Given the description of an element on the screen output the (x, y) to click on. 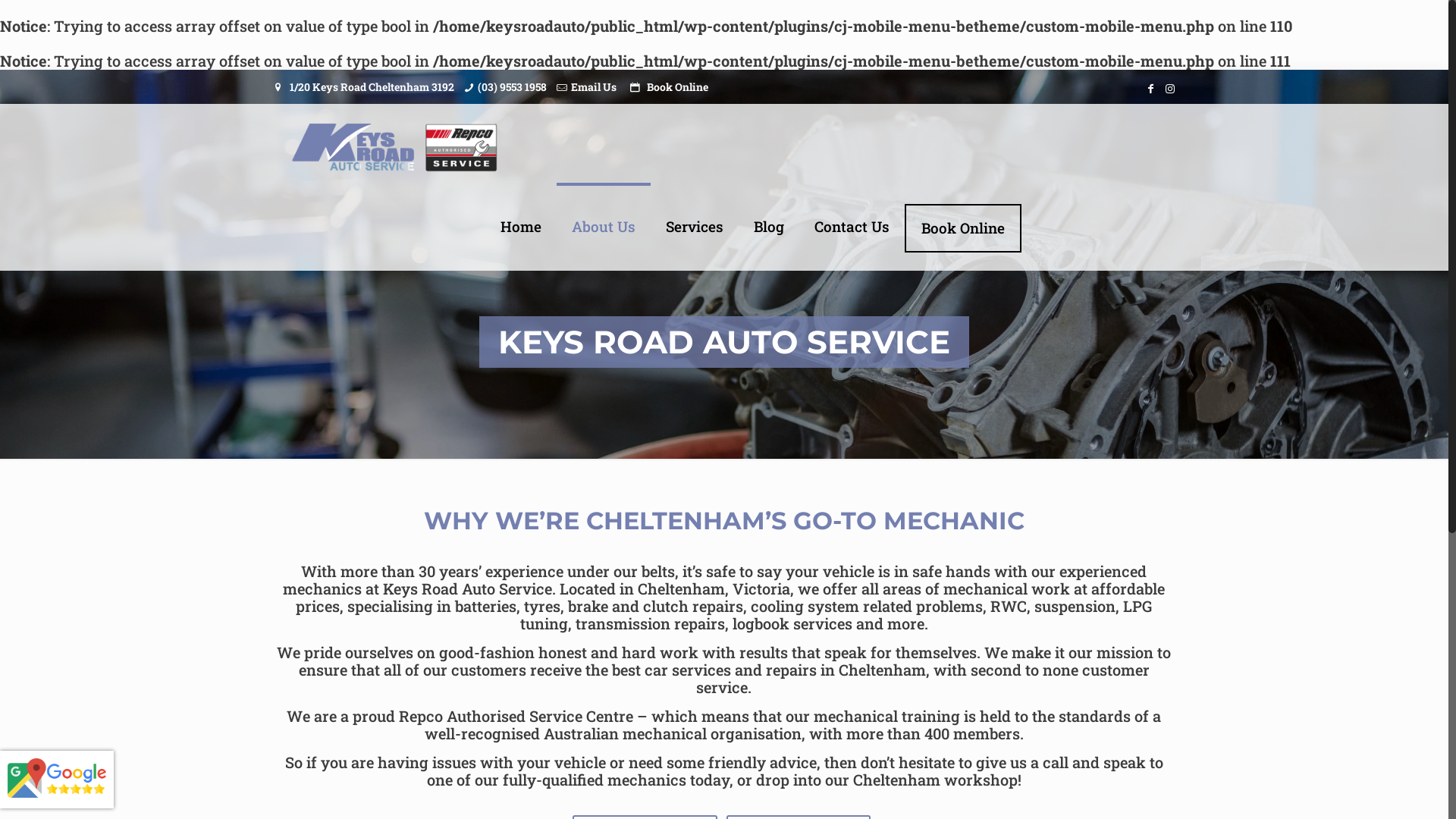
(03) 9553 1958 Element type: text (511, 86)
Keys Road Auto Service Element type: hover (394, 144)
Contact Us Element type: text (851, 226)
Book Online Element type: text (962, 227)
Email Us Element type: text (593, 86)
About Us Element type: text (603, 226)
Blog Element type: text (768, 226)
Facebook Element type: hover (1150, 87)
Home Element type: text (520, 226)
Book Online Element type: text (677, 86)
Instagram Element type: hover (1169, 87)
Services Element type: text (694, 226)
